Given the description of an element on the screen output the (x, y) to click on. 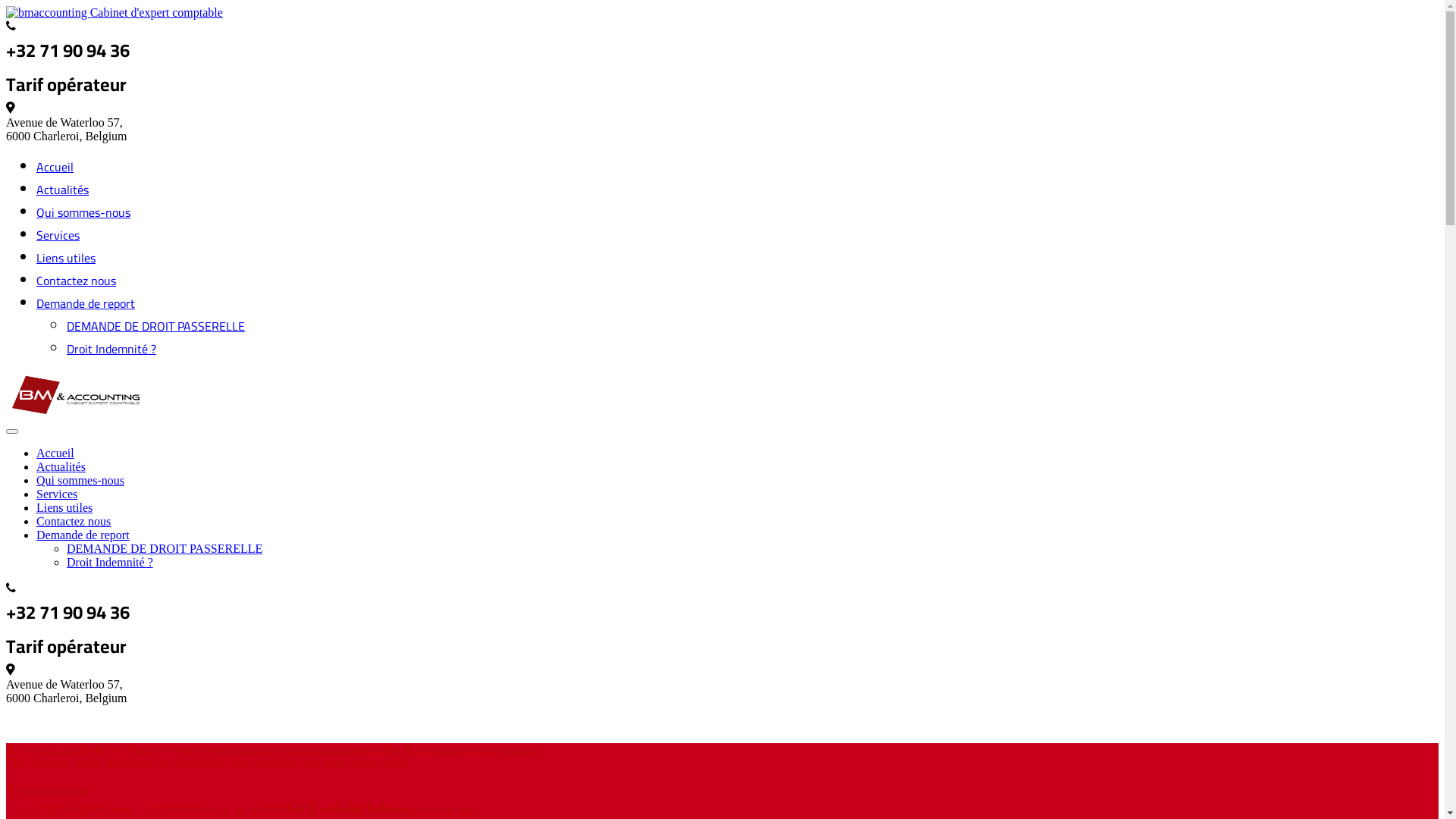
Accueil Element type: text (55, 452)
Demande de report Element type: text (85, 302)
Qui sommes-nous Element type: text (83, 211)
Qui sommes-nous Element type: text (80, 479)
DEMANDE DE DROIT PASSERELLE Element type: text (164, 548)
Accueil Element type: text (54, 166)
Contactez nous Element type: text (73, 520)
Services Element type: text (56, 493)
DEMANDE DE DROIT PASSERELLE Element type: text (155, 325)
Liens utiles Element type: text (64, 507)
Services Element type: text (57, 234)
Demande de report Element type: text (82, 534)
Contactez nous Element type: text (76, 280)
Liens utiles Element type: text (65, 257)
